Given the description of an element on the screen output the (x, y) to click on. 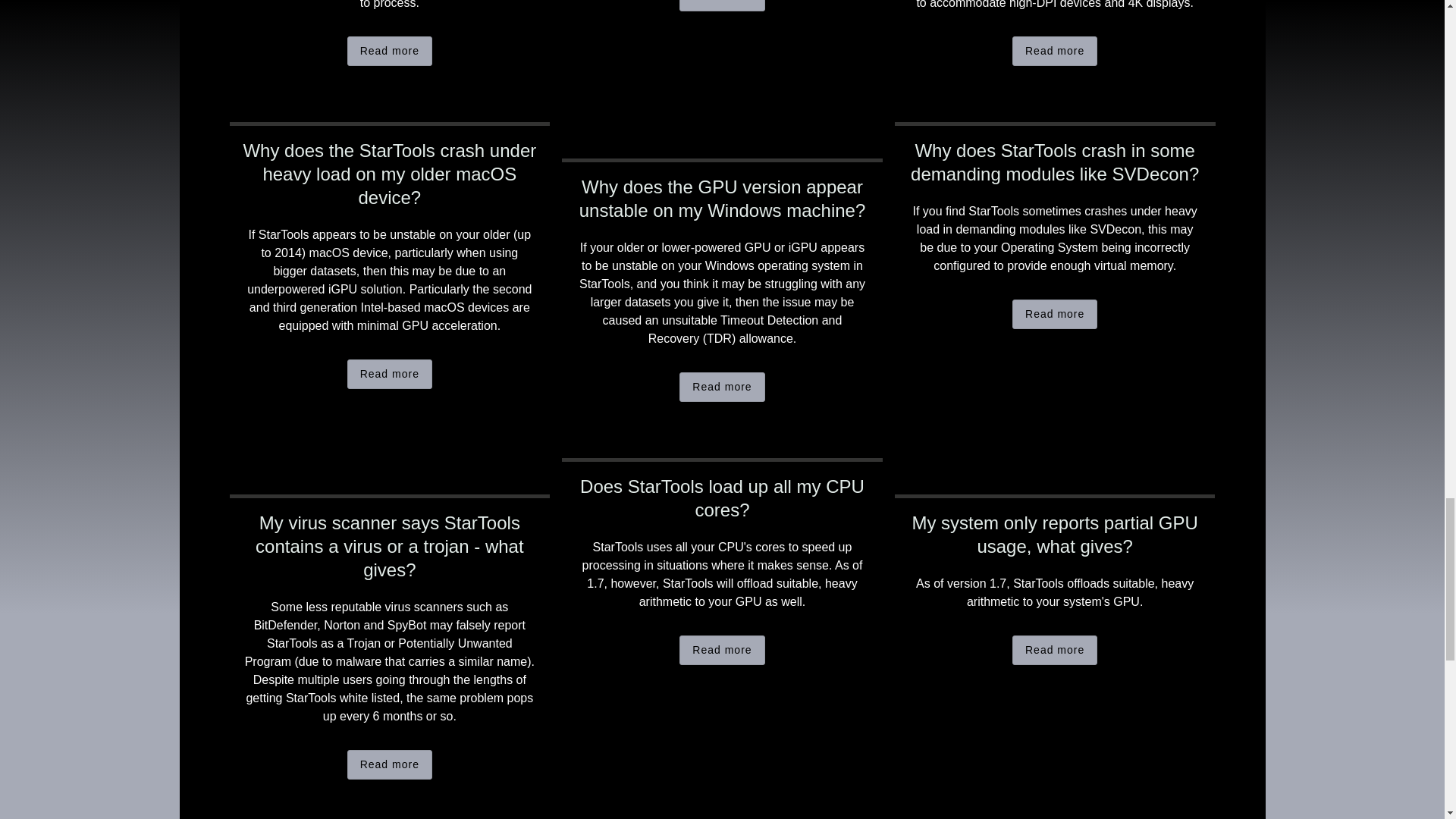
Read more (721, 650)
Read more (389, 764)
Read more (1054, 51)
Read more (1054, 650)
Read more (721, 5)
Read more (1054, 314)
My system only reports partial GPU usage, what gives? (1055, 534)
Read more (389, 51)
Does StarTools load up all my CPU cores? (722, 498)
Read more (721, 387)
Read more (389, 374)
